Given the description of an element on the screen output the (x, y) to click on. 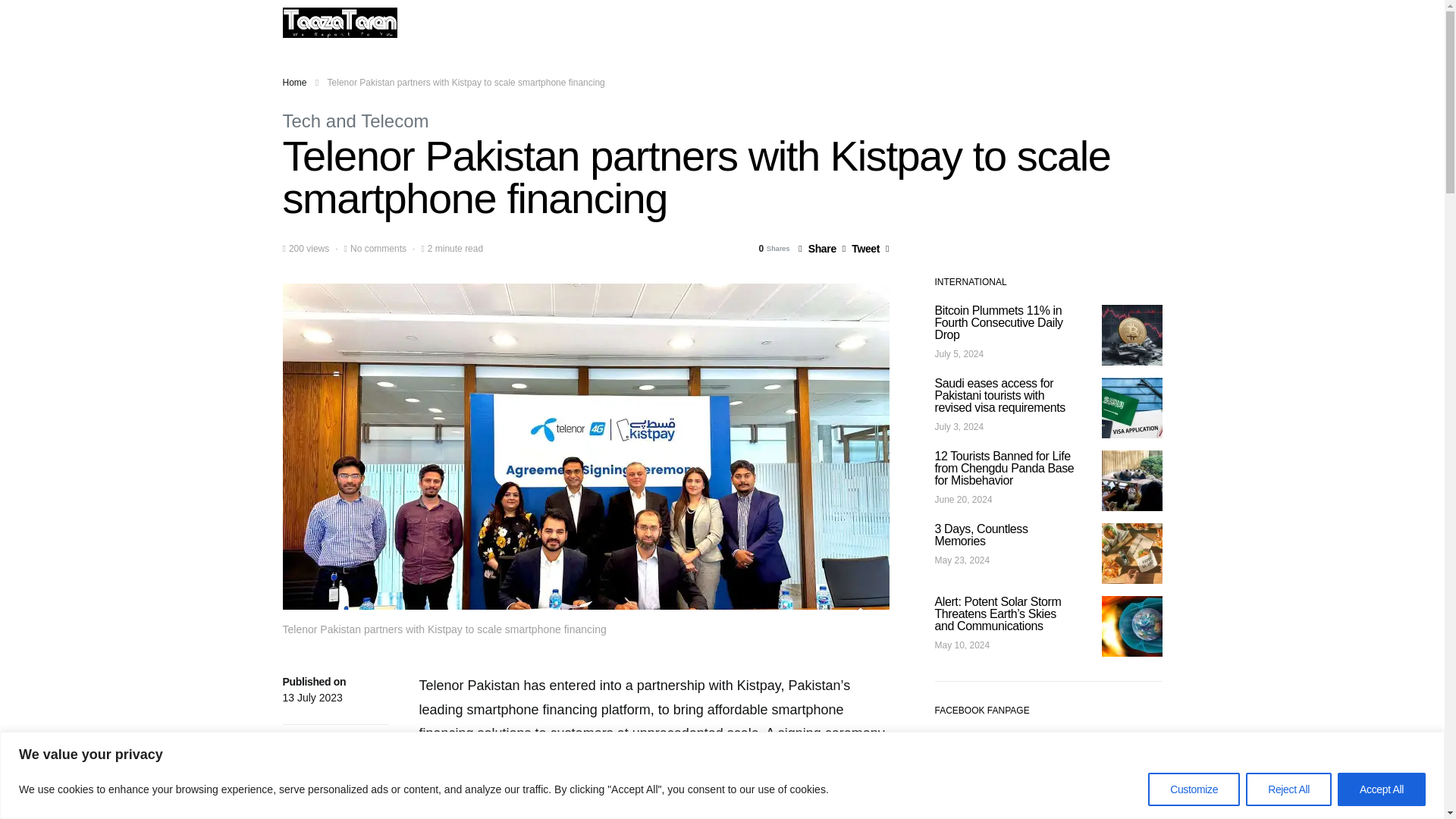
Reject All (1289, 788)
Accept All (1381, 788)
Customize (1194, 788)
